Given the description of an element on the screen output the (x, y) to click on. 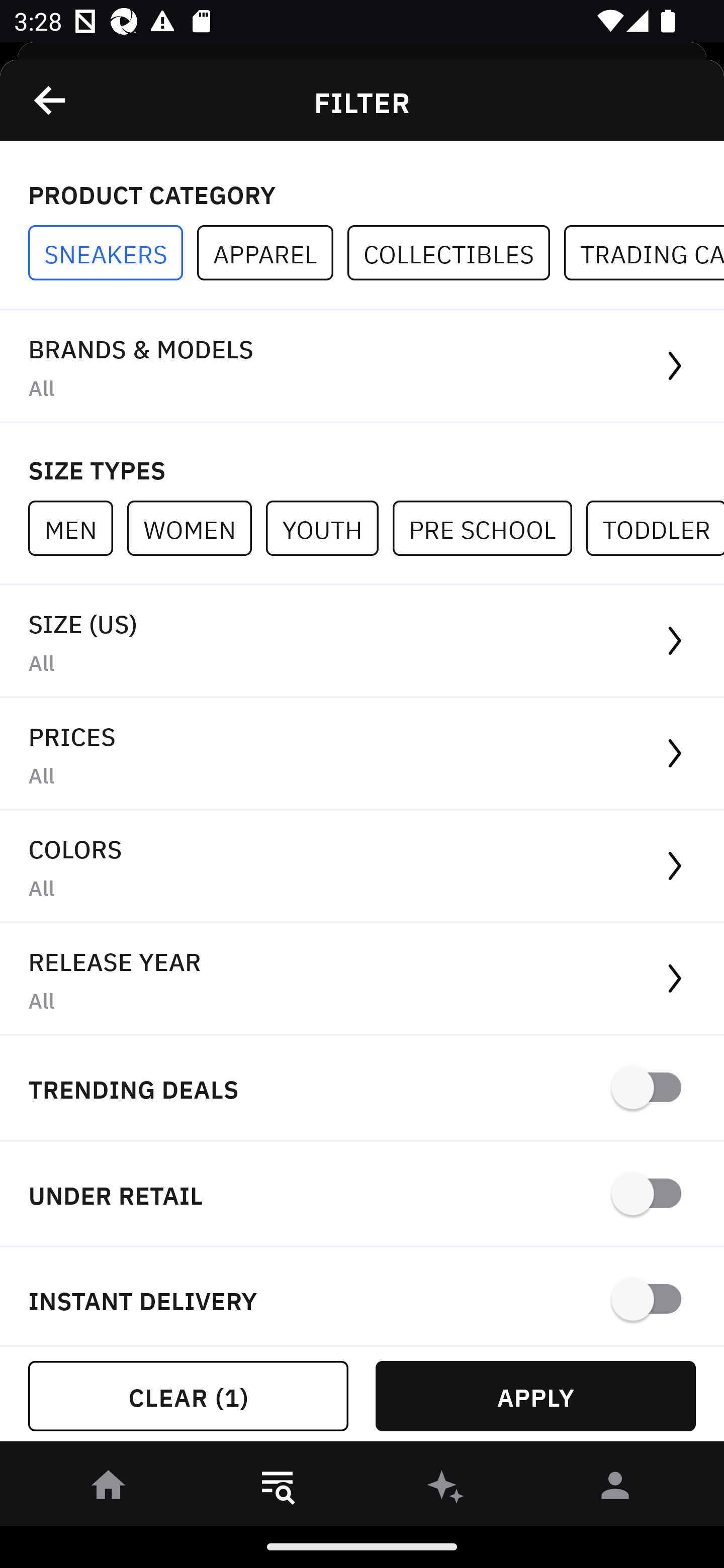
 (50, 100)
SNEAKERS (112, 252)
APPAREL (271, 252)
COLLECTIBLES (455, 252)
TRADING CARDS (643, 252)
BRANDS & MODELS All (362, 366)
MEN (77, 527)
WOMEN (196, 527)
YOUTH (328, 527)
PRE SCHOOL (489, 527)
TODDLER (655, 527)
SIZE (US) All (362, 640)
PRICES All (362, 753)
COLORS All (362, 866)
RELEASE YEAR All (362, 979)
TRENDING DEALS (362, 1088)
UNDER RETAIL (362, 1194)
INSTANT DELIVERY (362, 1296)
CLEAR (1) (188, 1396)
APPLY (535, 1396)
󰋜 (108, 1488)
󱎸 (277, 1488)
󰫢 (446, 1488)
󰀄 (615, 1488)
